Given the description of an element on the screen output the (x, y) to click on. 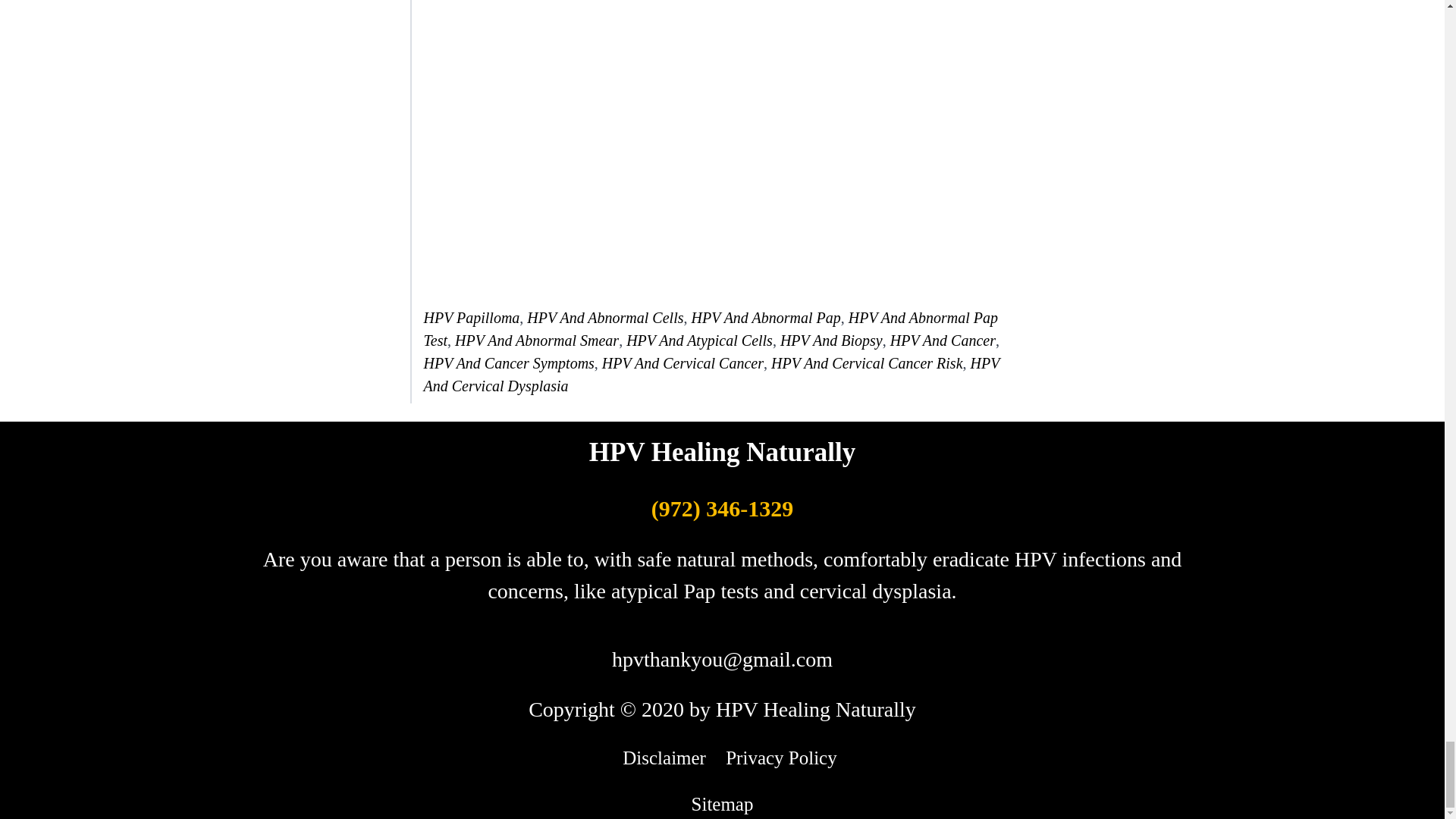
HPV And Cervical Cancer (682, 362)
HPV And Cancer (942, 340)
HPV And Abnormal Cells (604, 317)
HPV And Atypical Cells (699, 340)
HPV And Abnormal Pap Test (710, 328)
HPV And Abnormal Pap (765, 317)
HPV And Abnormal Smear (536, 340)
HPV And Biopsy (831, 340)
HPV Papilloma (471, 317)
HPV And Cancer Symptoms (508, 362)
